Given the description of an element on the screen output the (x, y) to click on. 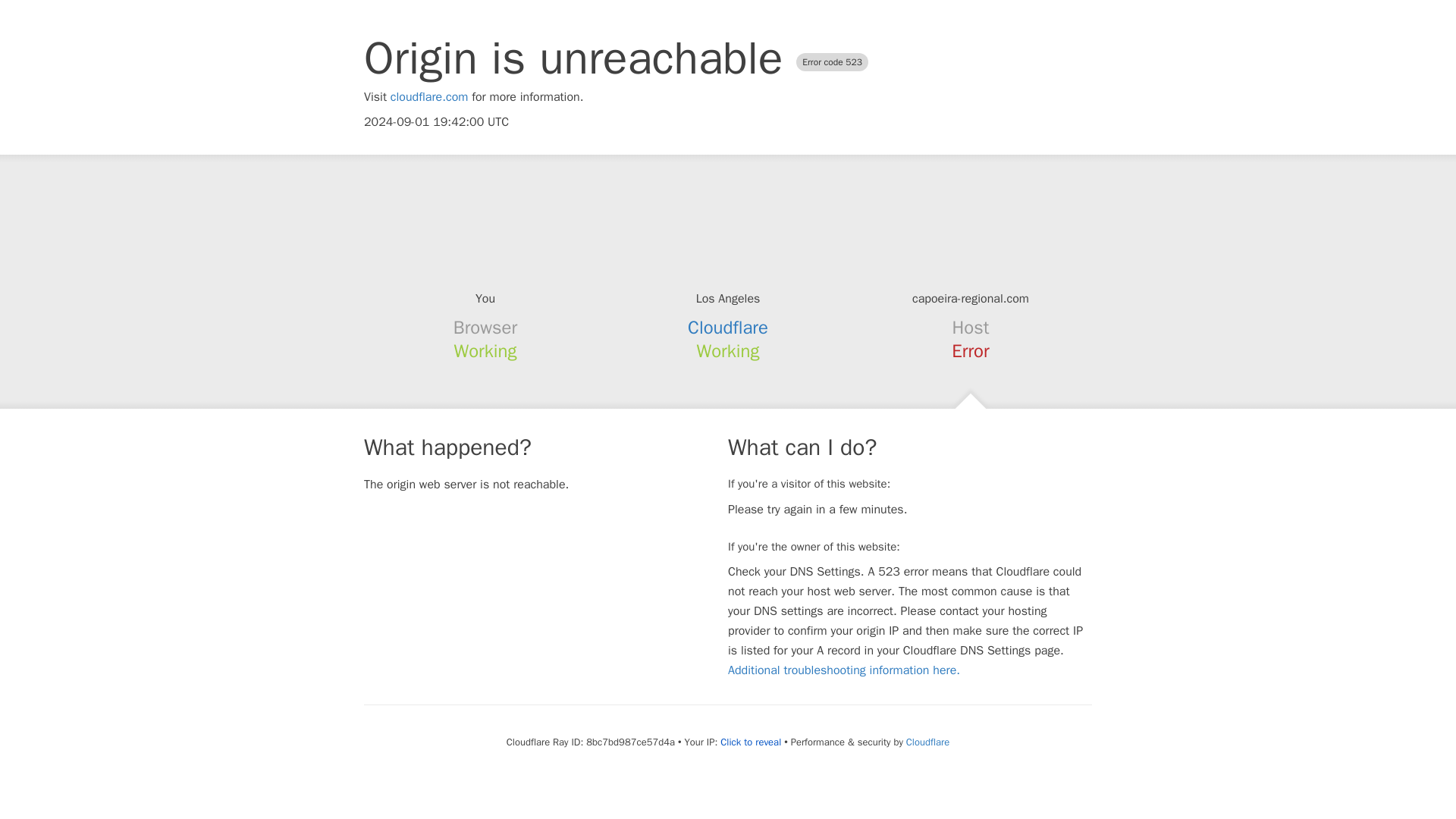
cloudflare.com (429, 96)
Additional troubleshooting information here. (843, 670)
Cloudflare (727, 327)
Cloudflare (927, 741)
Click to reveal (750, 742)
